Given the description of an element on the screen output the (x, y) to click on. 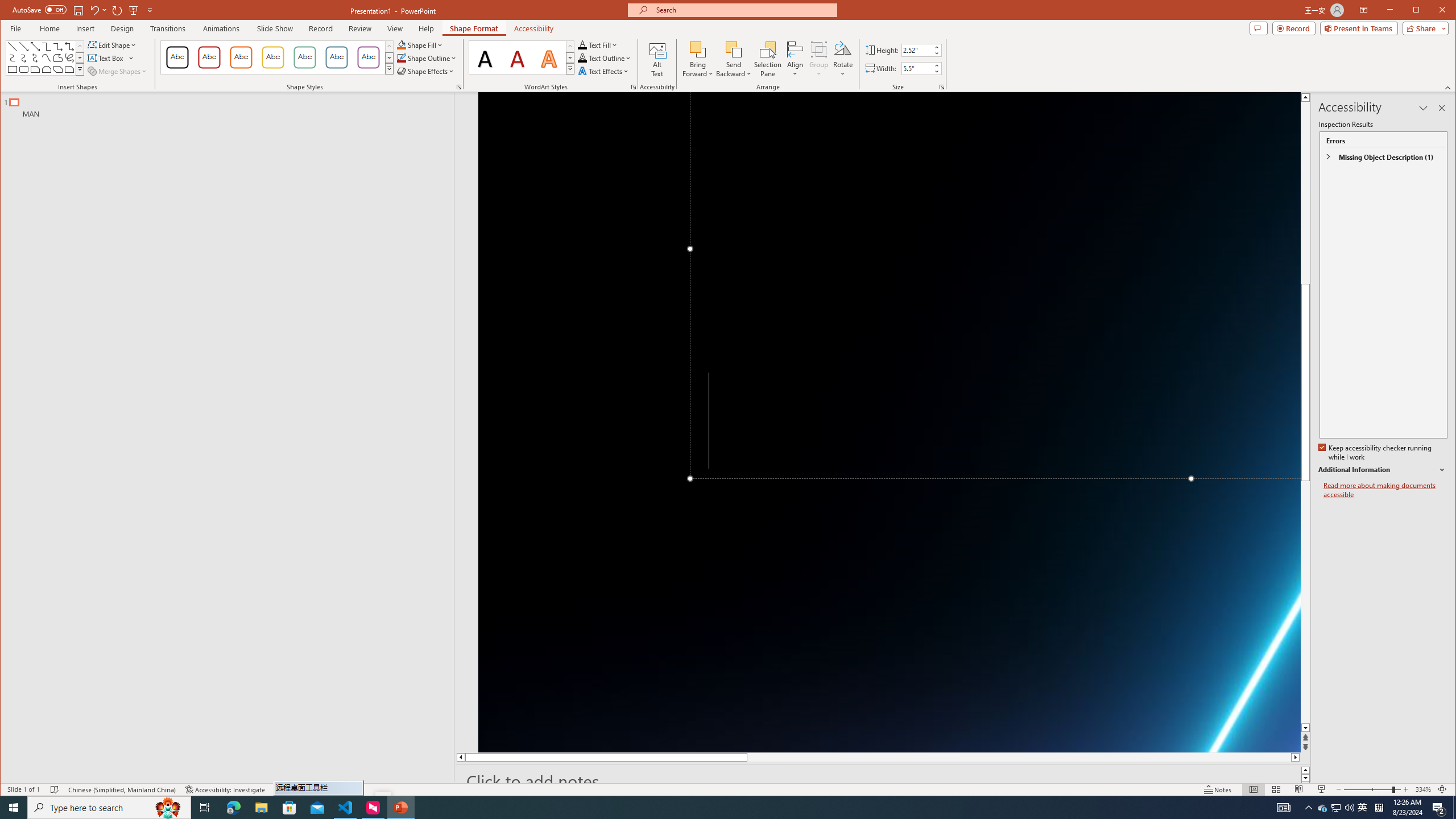
Size and Position... (941, 86)
Align (794, 59)
